Given the description of an element on the screen output the (x, y) to click on. 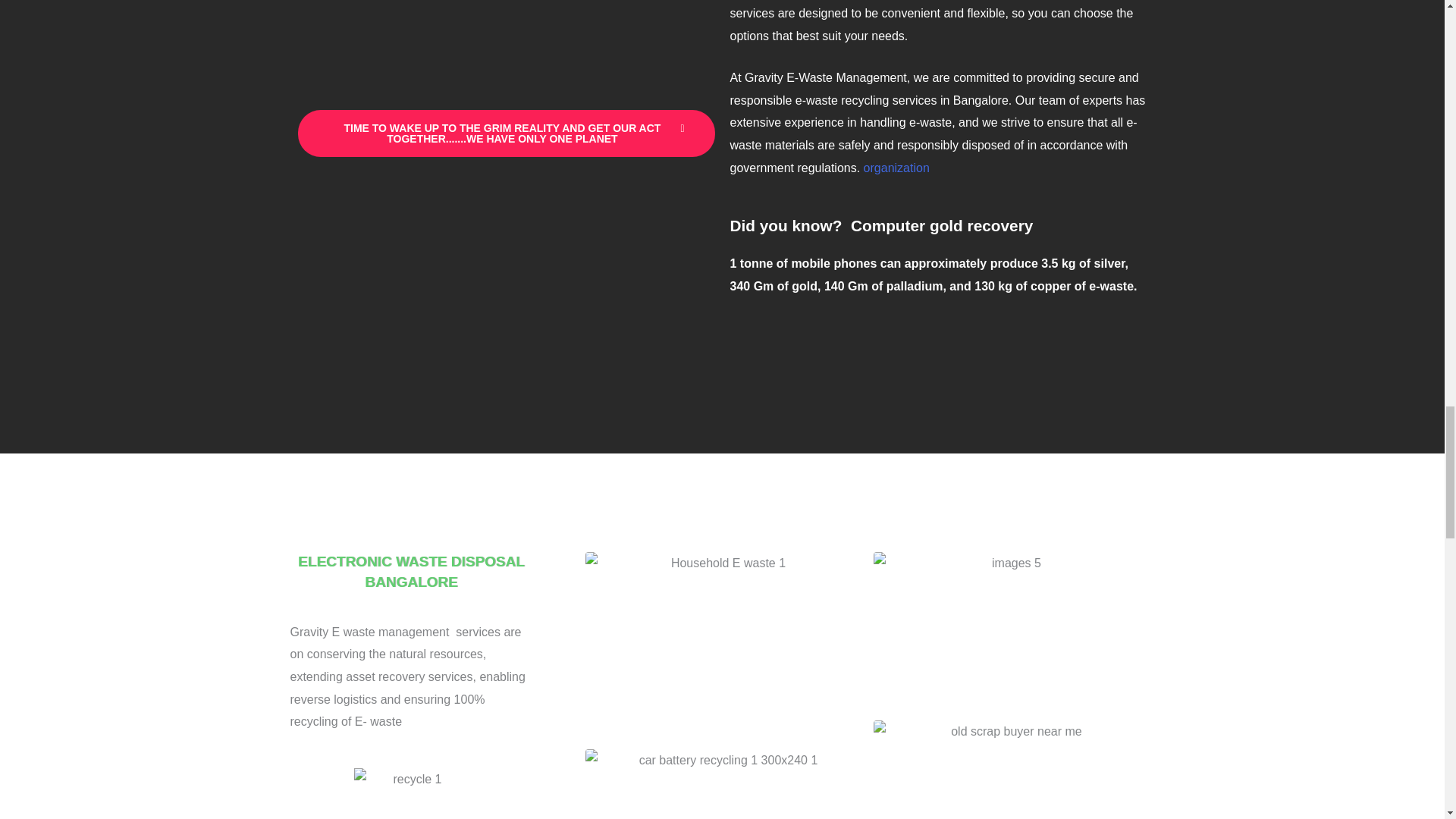
Home 8 (722, 784)
Home 10 (1010, 769)
organization (896, 167)
Home 9 (1010, 628)
Home 7 (722, 642)
Home 6 (410, 793)
